Given the description of an element on the screen output the (x, y) to click on. 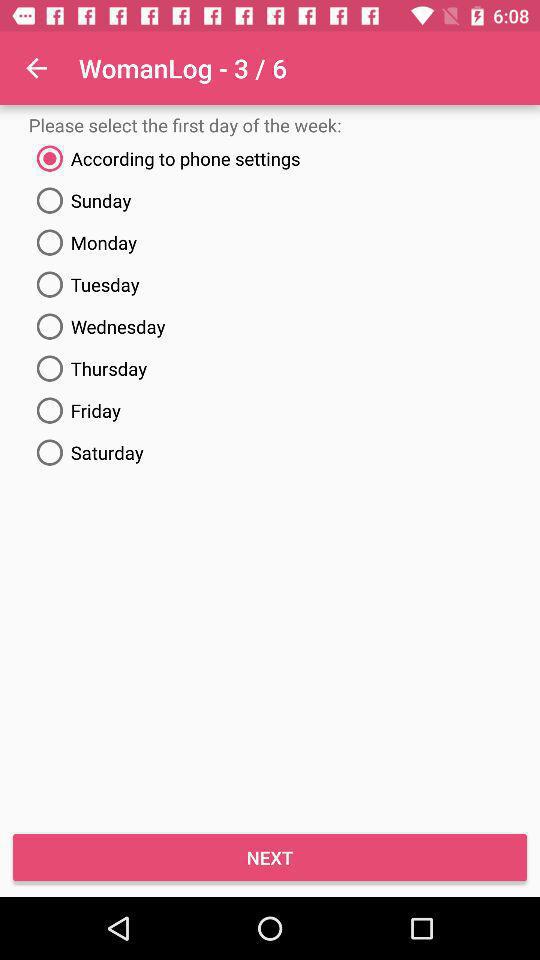
turn off icon above the monday item (269, 200)
